Given the description of an element on the screen output the (x, y) to click on. 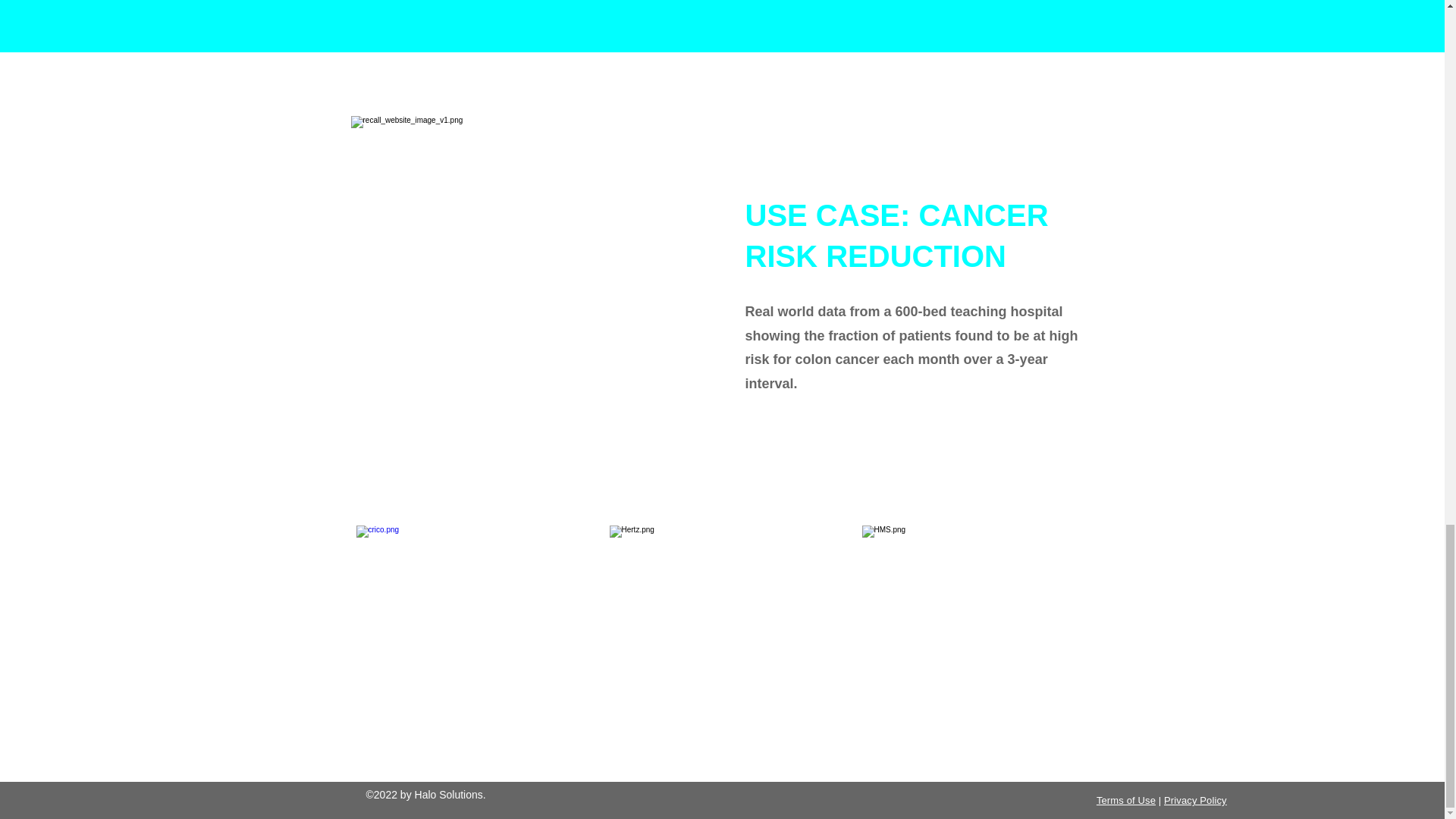
Terms of Use (1126, 799)
Privacy Policy (1195, 799)
